Given the description of an element on the screen output the (x, y) to click on. 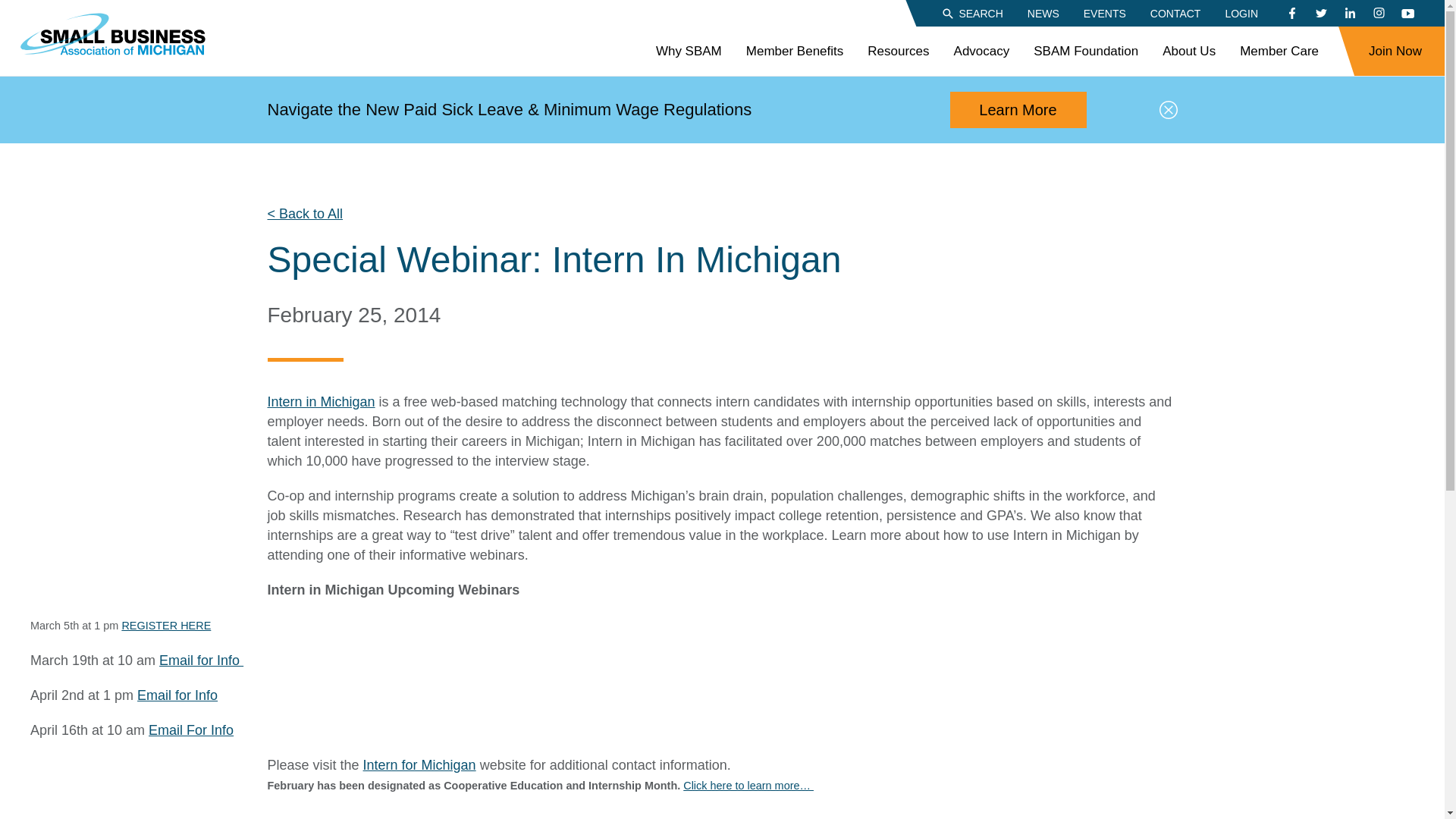
INSTAGRAM (1378, 13)
Skip to main content (11, 7)
FACEBOOK (1292, 13)
LINKEDIN (1349, 13)
Member Benefits (794, 51)
EVENTS (1104, 12)
CONTACT (1175, 12)
NEWS (1043, 12)
Why SBAM (688, 51)
YOUTUBE (1407, 13)
